Given the description of an element on the screen output the (x, y) to click on. 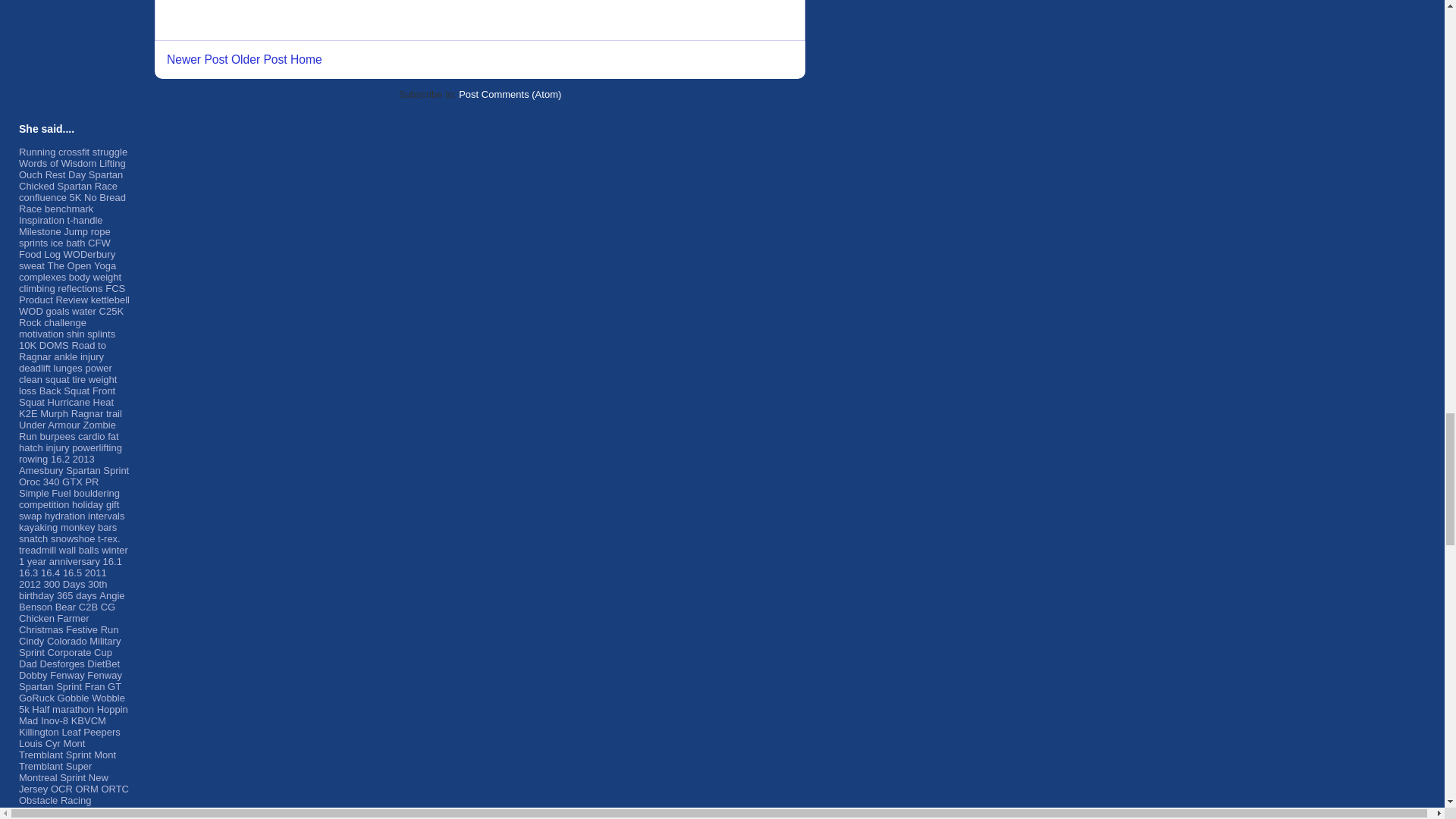
Running (36, 152)
crossfit (73, 152)
struggle (110, 152)
Words of Wisdom (57, 163)
Spartan Race (87, 185)
Older Post (258, 59)
Spartan Chicked (70, 179)
Older Post (258, 59)
Ouch (30, 174)
Newer Post (197, 59)
Lifting (112, 163)
Home (305, 59)
Rest Day (65, 174)
Newer Post (197, 59)
